Given the description of an element on the screen output the (x, y) to click on. 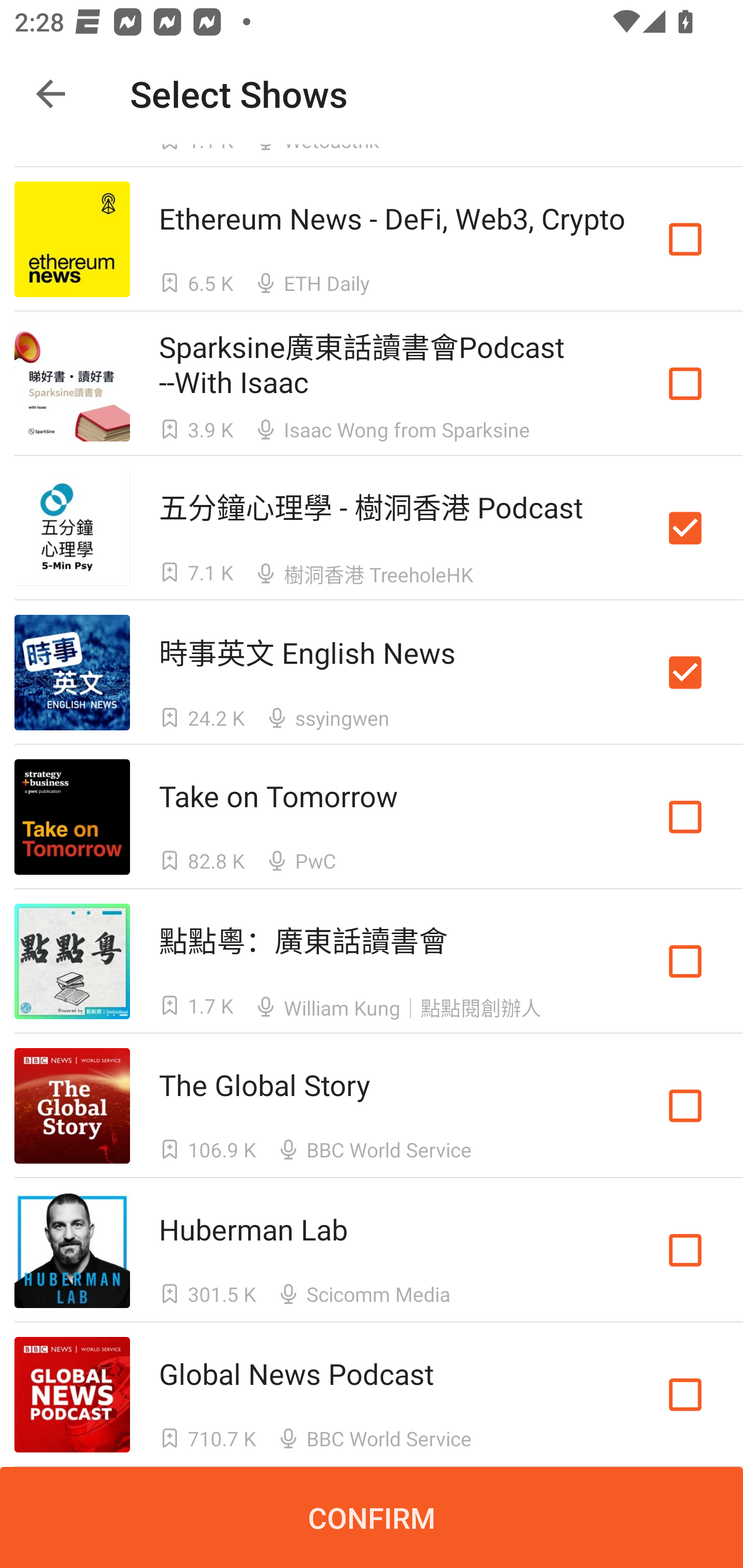
Navigate up (50, 93)
Take on Tomorrow Take on Tomorrow  82.8 K  PwC (371, 816)
CONFIRM (371, 1517)
